Given the description of an element on the screen output the (x, y) to click on. 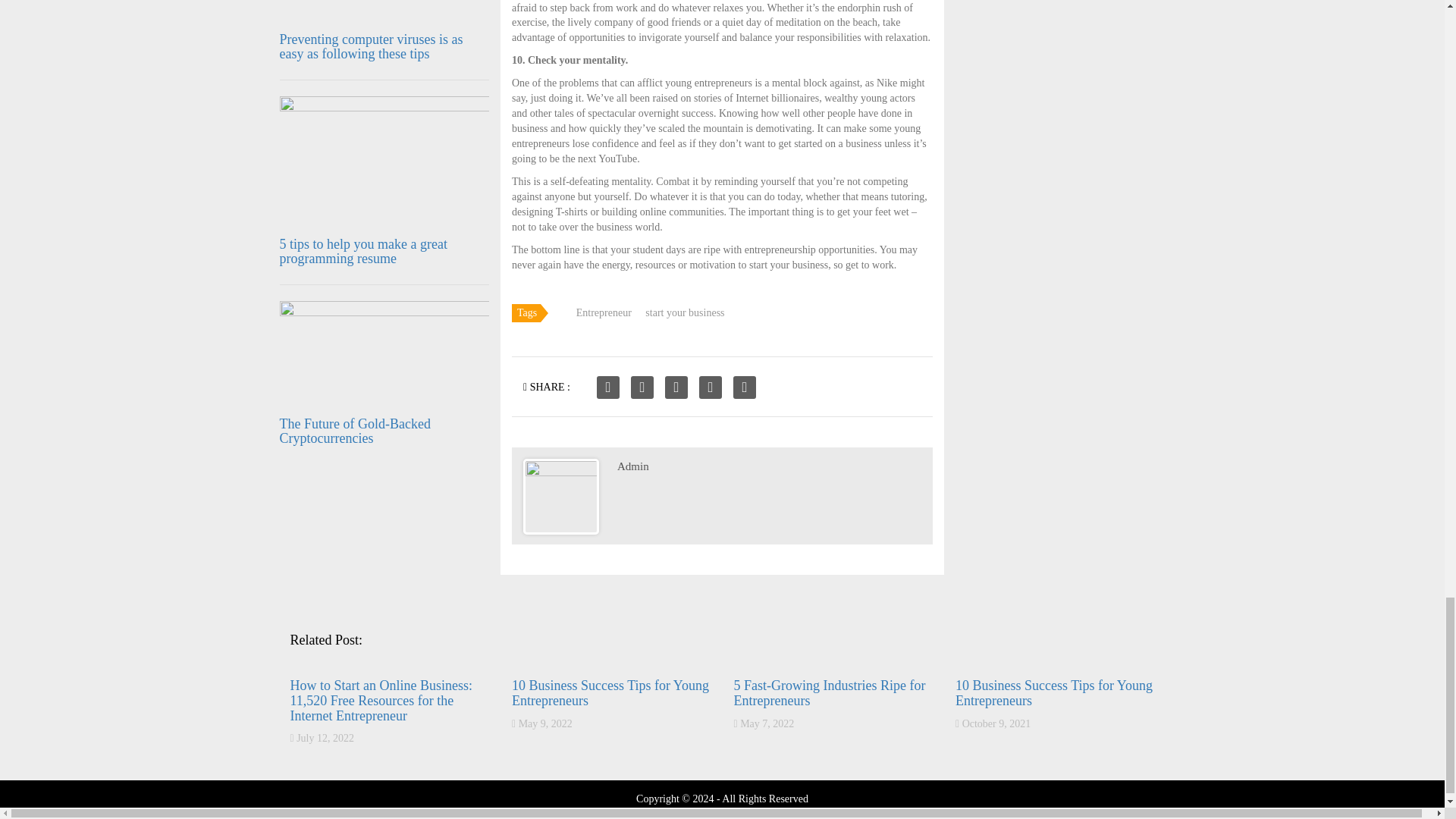
Share on Facebook (608, 386)
Posts by Admin (633, 466)
